Given the description of an element on the screen output the (x, y) to click on. 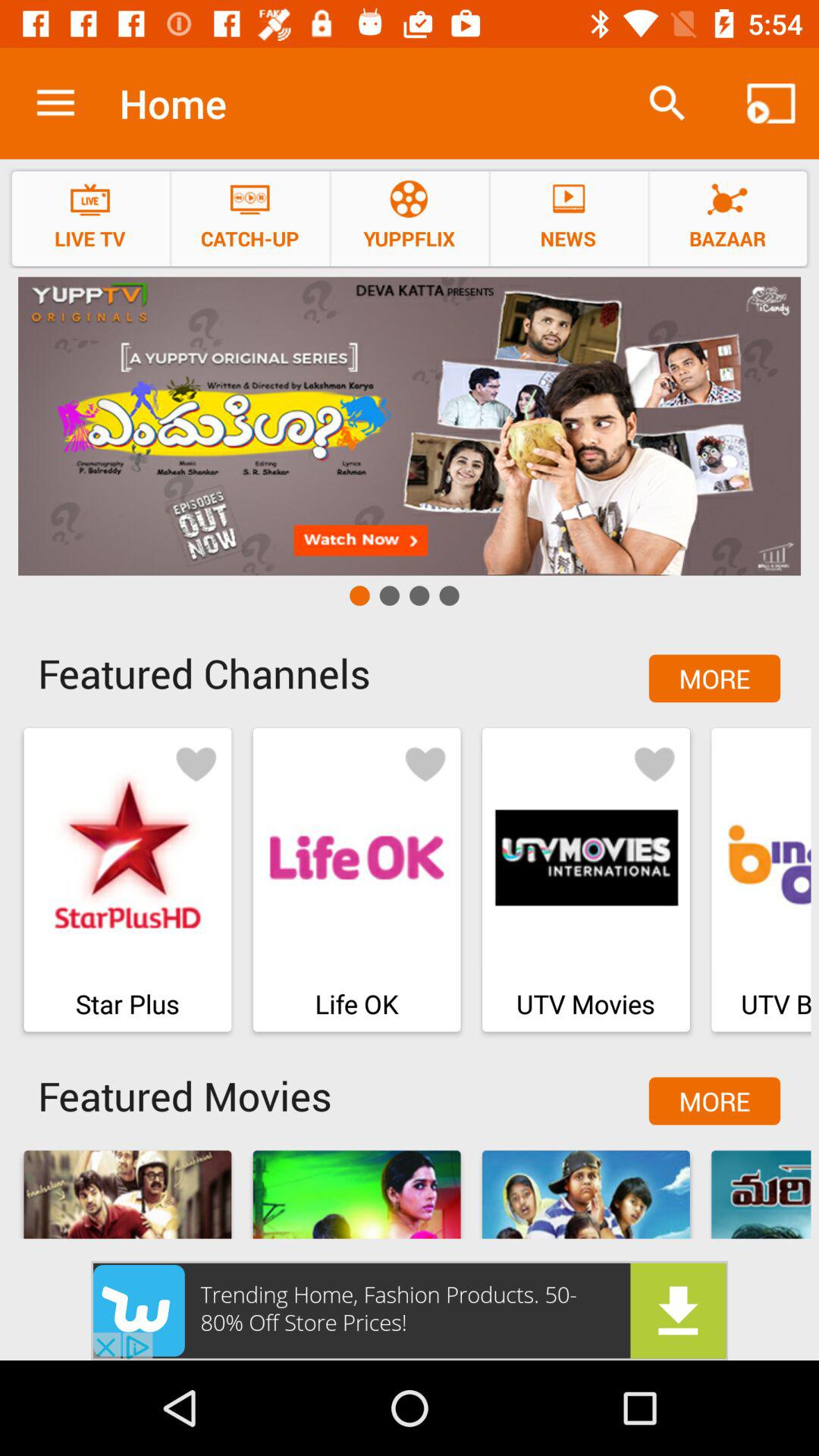
like the channel (425, 763)
